Given the description of an element on the screen output the (x, y) to click on. 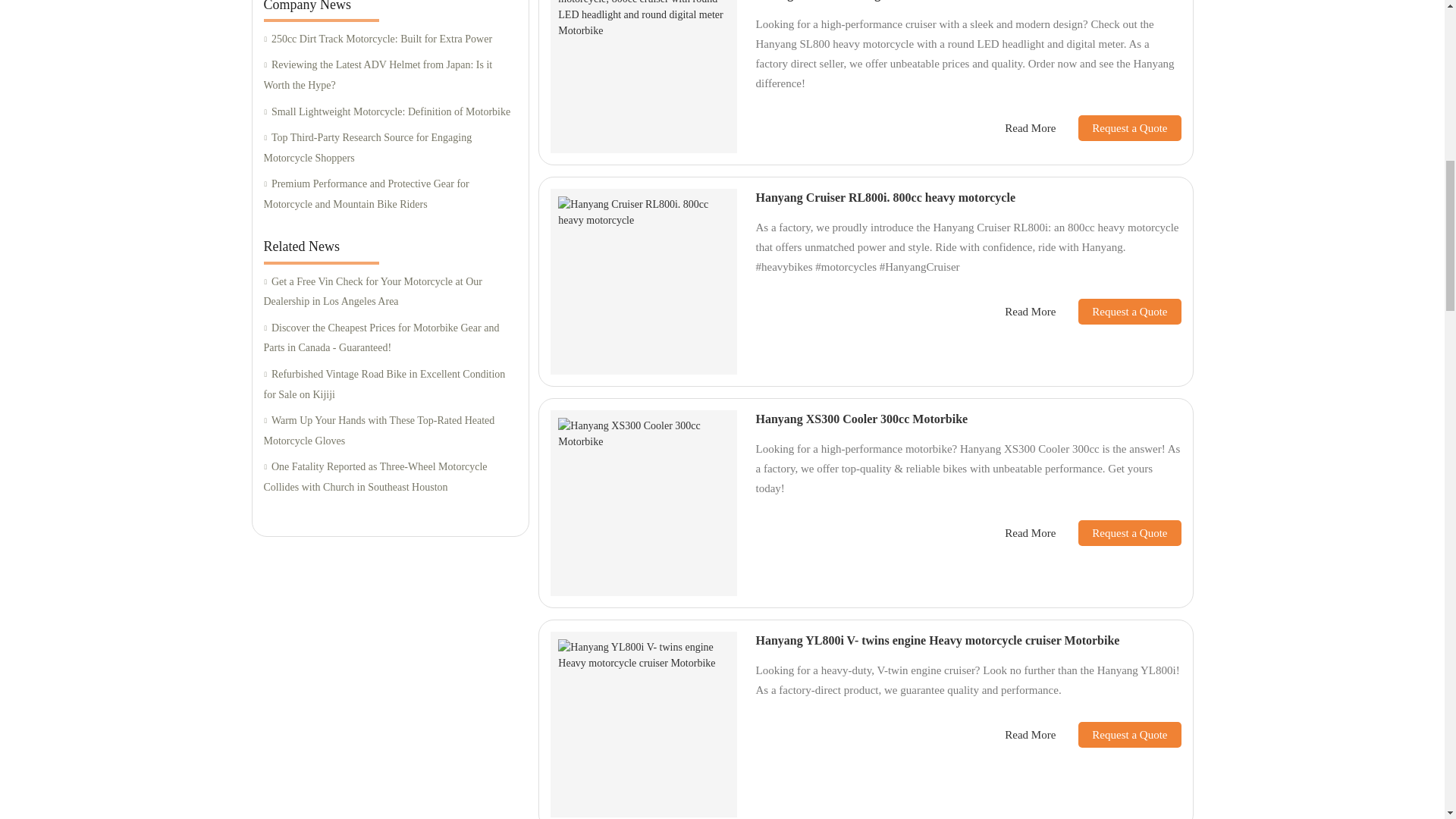
Small Lightweight Motorcycle: Definition of Motorbike (389, 111)
Request a Quote (1117, 127)
250cc Dirt Track Motorcycle: Built for Extra Power (389, 39)
Read More (1029, 128)
